Given the description of an element on the screen output the (x, y) to click on. 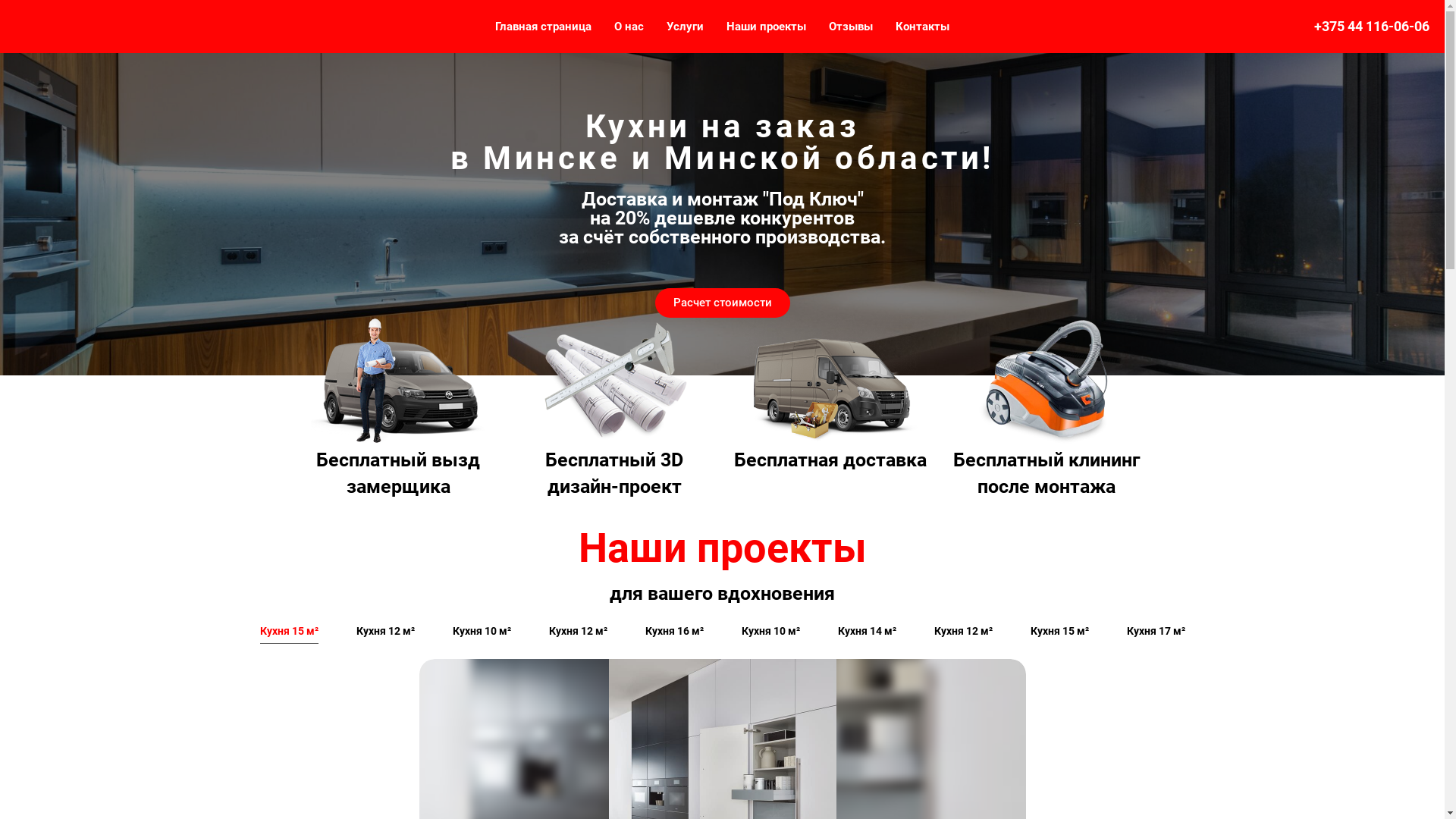
+375 44 116-06-06 Element type: text (1371, 26)
